Given the description of an element on the screen output the (x, y) to click on. 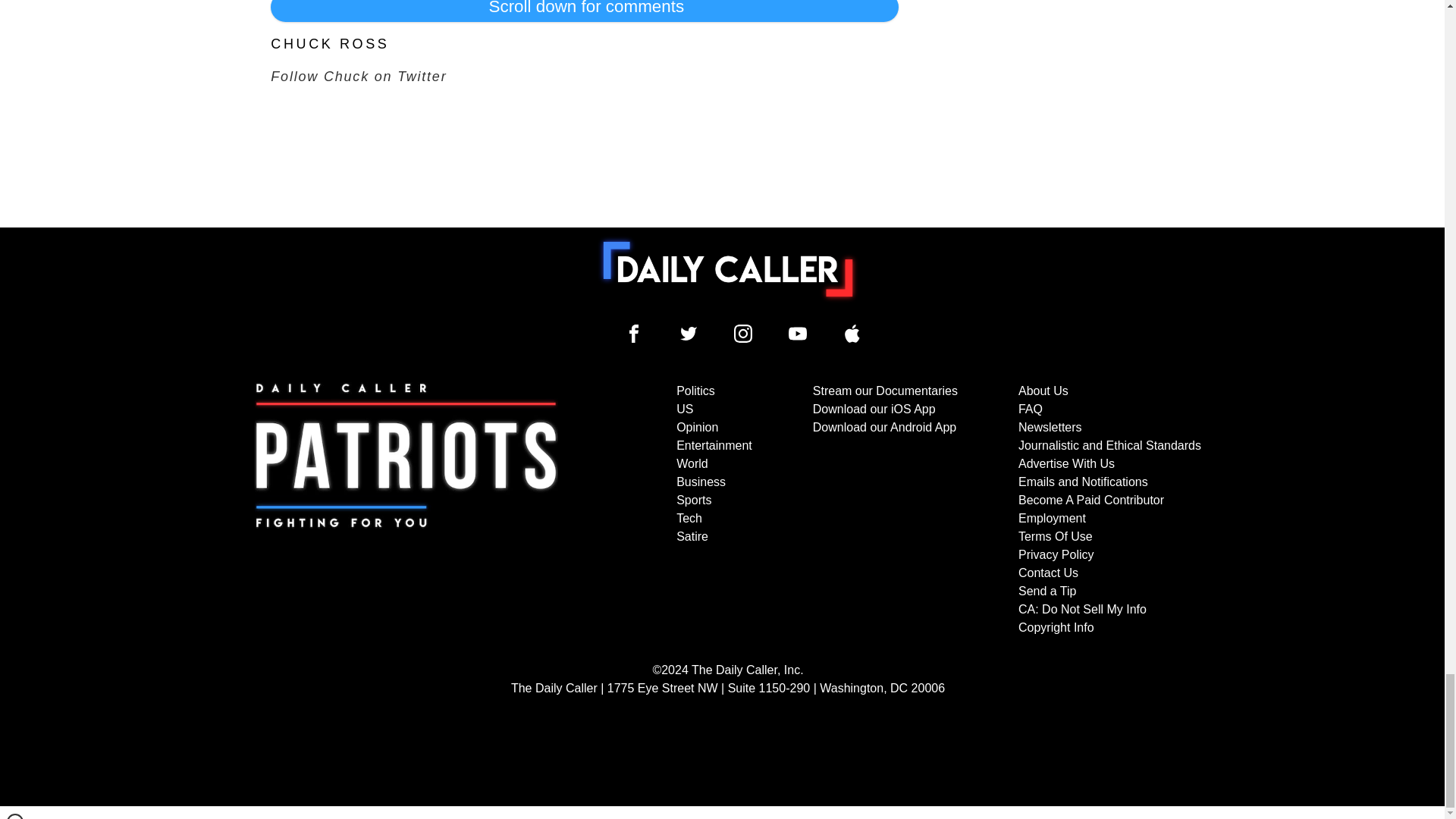
To home page (727, 268)
Daily Caller Instagram (742, 333)
Daily Caller Twitter (688, 333)
Scroll down for comments (584, 10)
Subscribe to The Daily Caller (405, 509)
Daily Caller YouTube (852, 333)
Daily Caller YouTube (797, 333)
Daily Caller Facebook (633, 333)
